Given the description of an element on the screen output the (x, y) to click on. 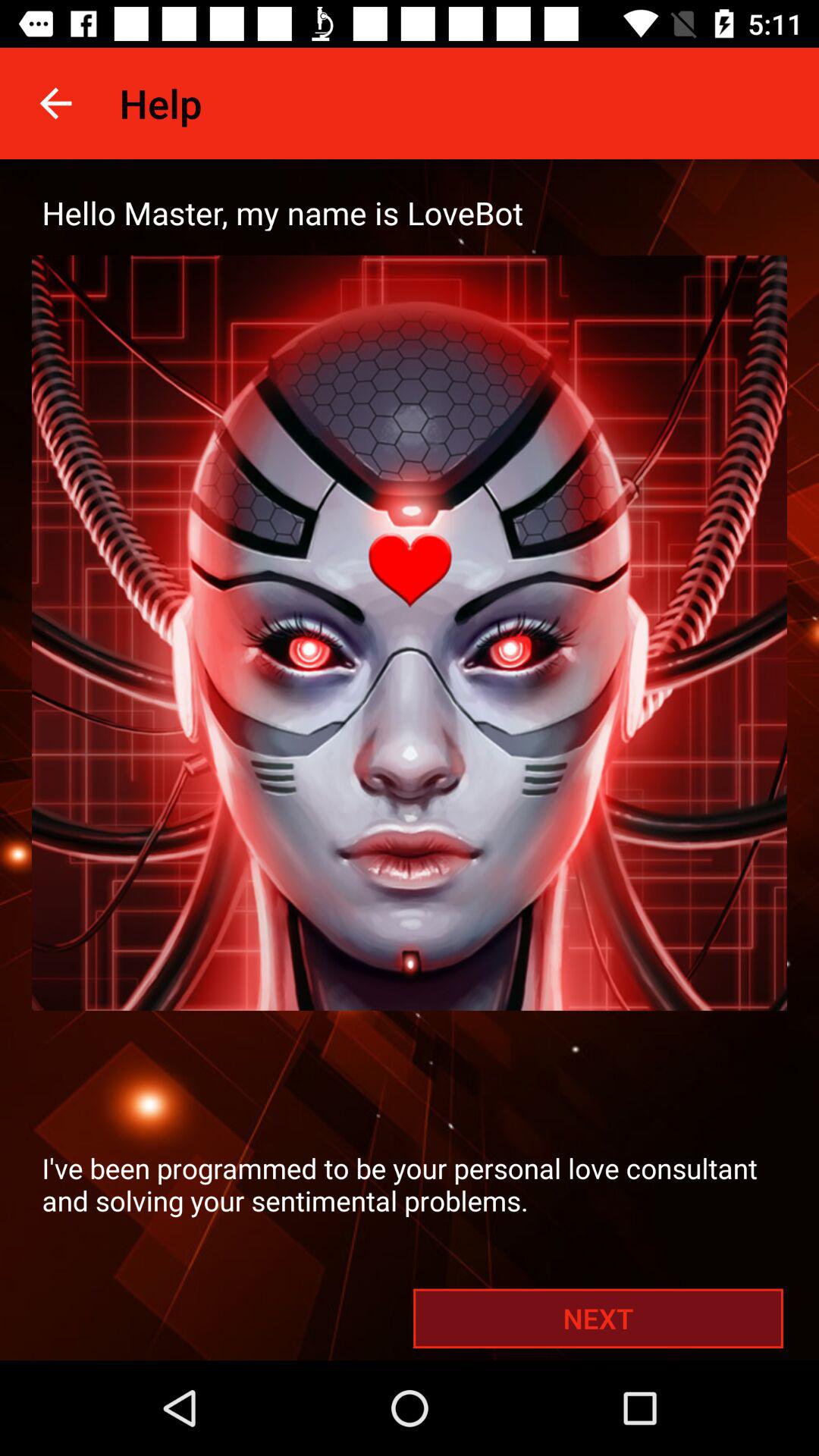
press next icon (598, 1318)
